Given the description of an element on the screen output the (x, y) to click on. 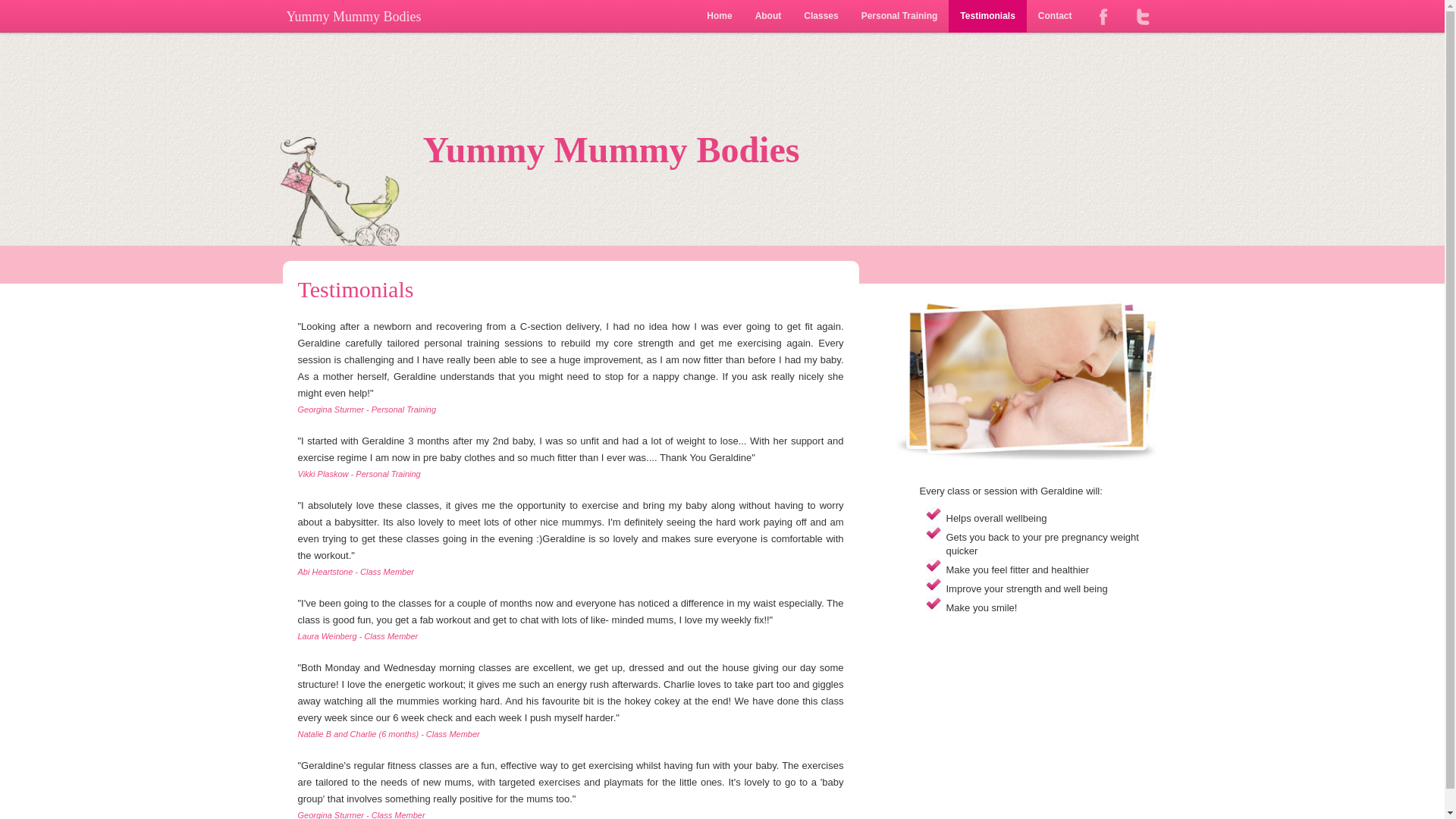
Yummy Mummy Bodies (354, 18)
Home (718, 16)
About (768, 16)
Classes (820, 16)
Contact (1054, 16)
Personal Training (899, 16)
Yummy Mummy Bodies (722, 149)
Testimonials (987, 16)
